Given the description of an element on the screen output the (x, y) to click on. 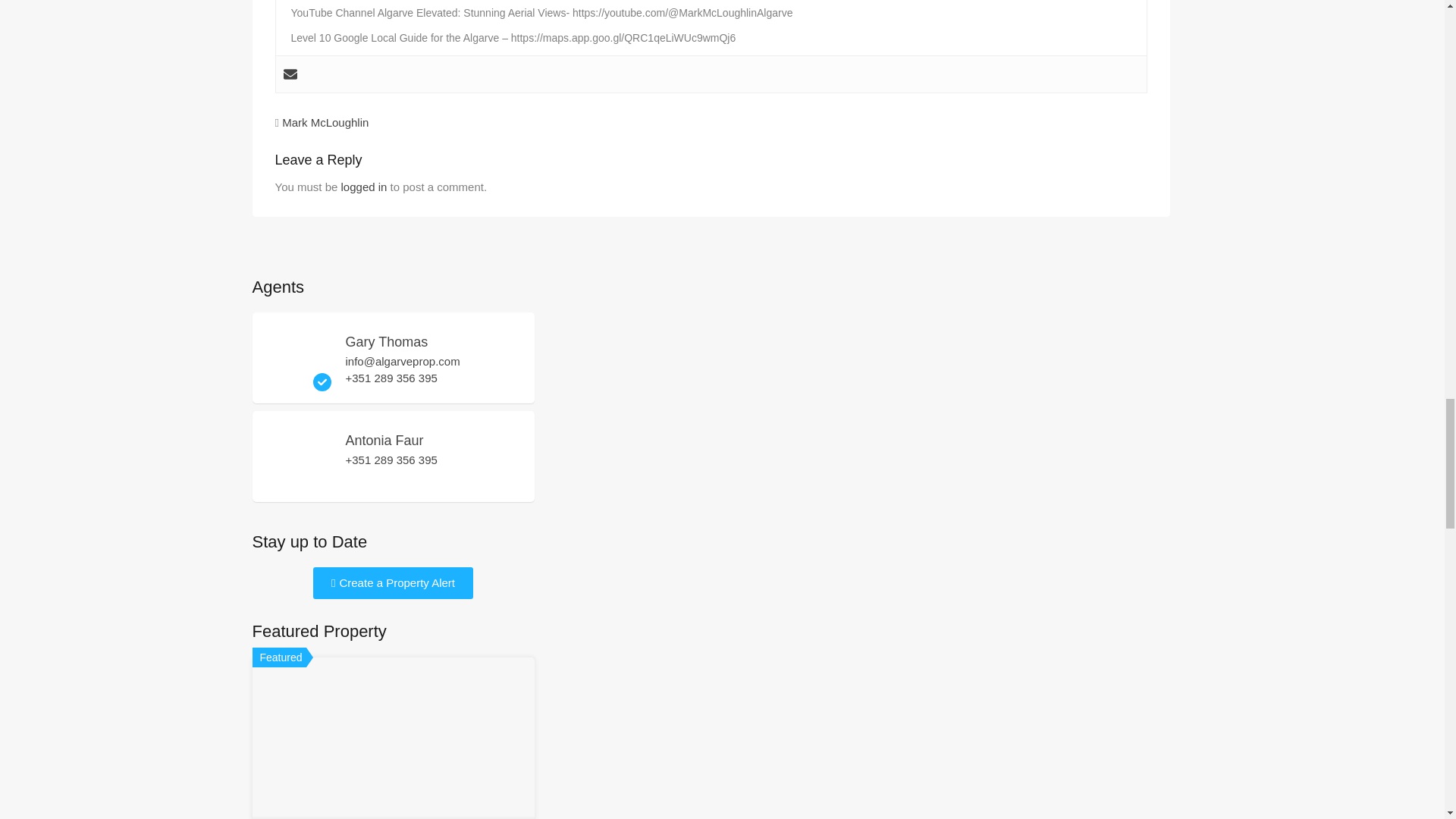
Antonia Faur (296, 481)
Gary Thomas (296, 383)
User email (290, 74)
